Given the description of an element on the screen output the (x, y) to click on. 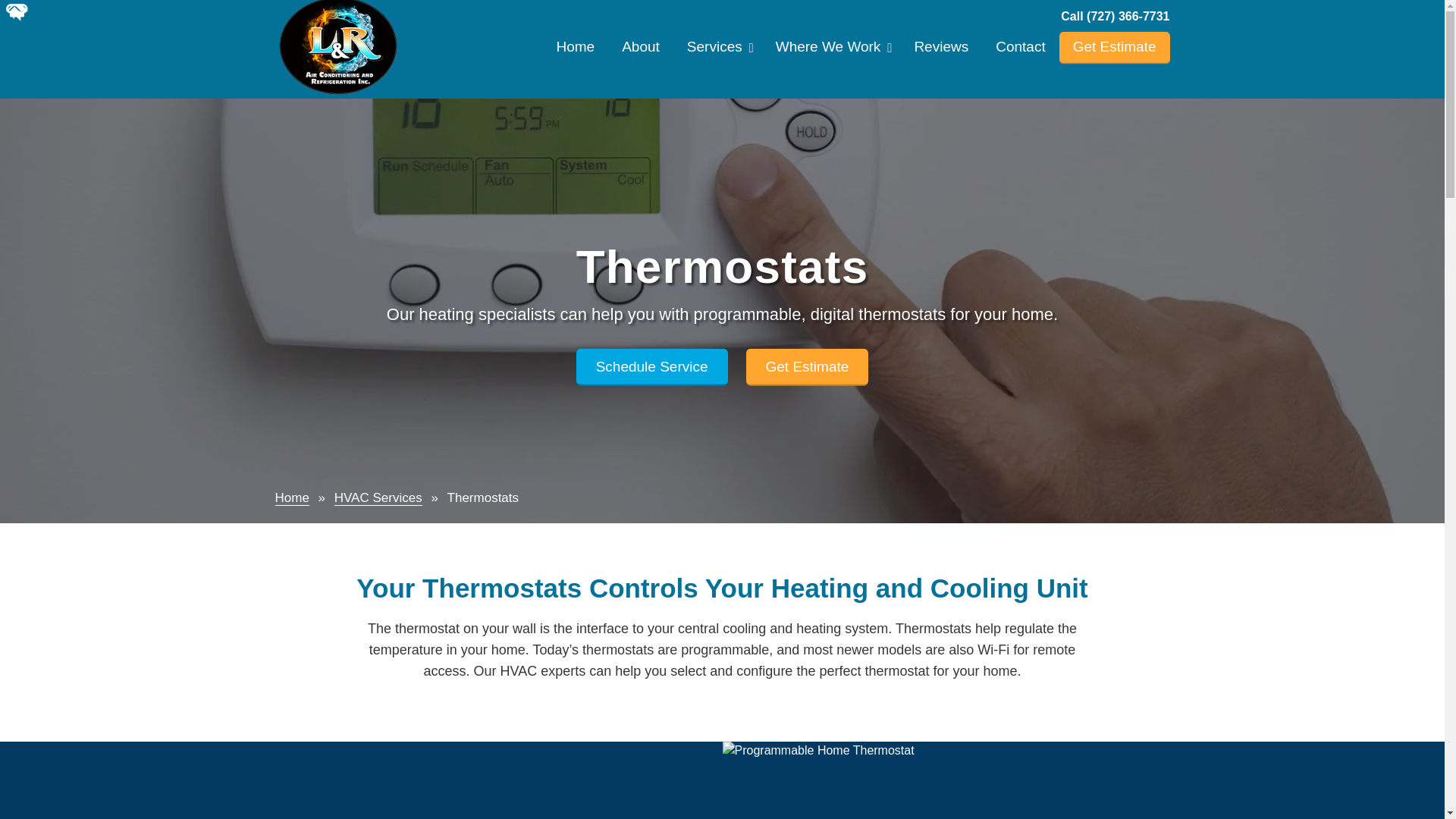
Reviews (941, 47)
Get Estimate (1114, 47)
Home (575, 47)
About (640, 47)
Services (717, 47)
Where We Work (831, 47)
Contact (1020, 47)
